Given the description of an element on the screen output the (x, y) to click on. 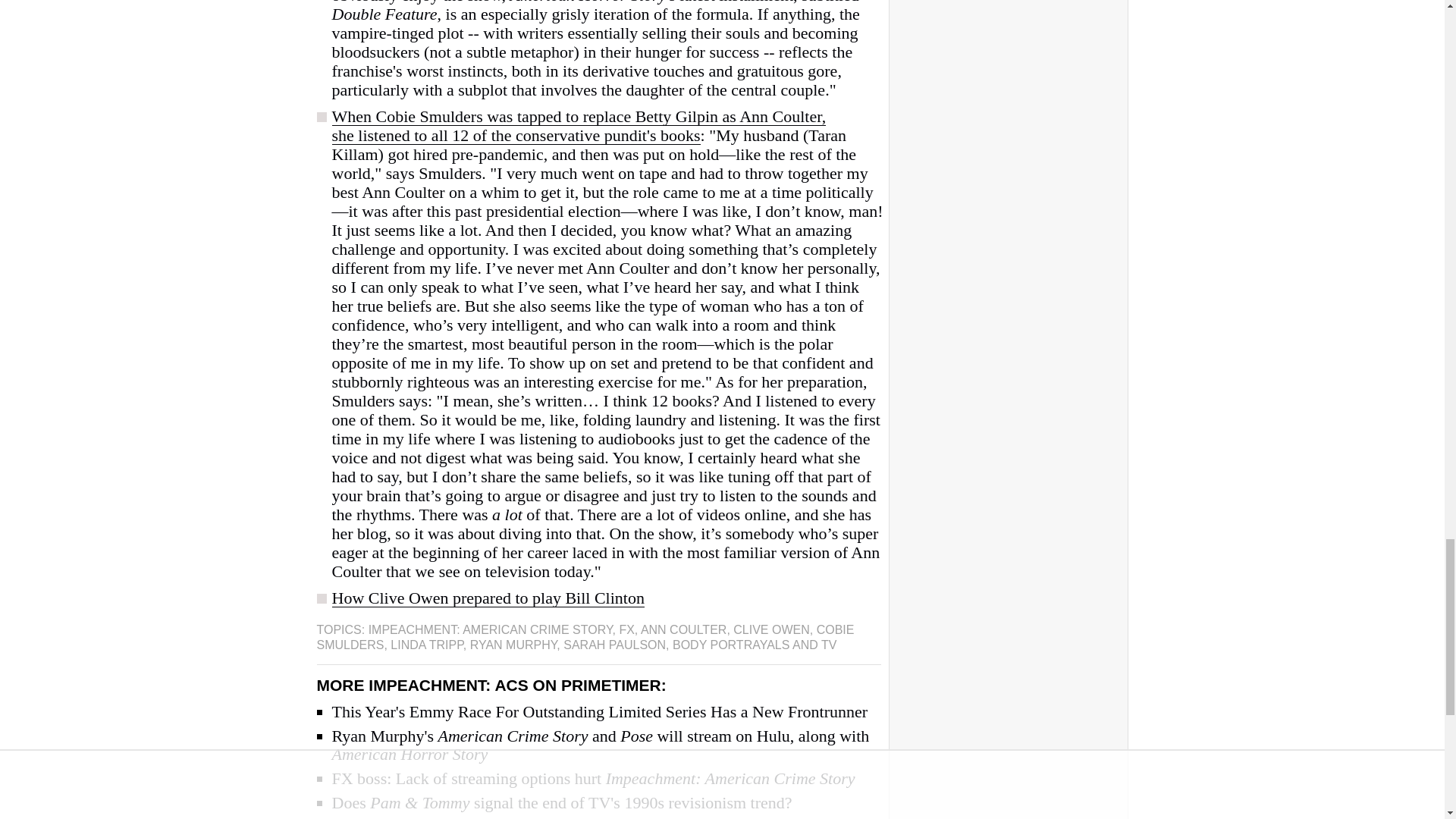
FX (625, 629)
How Clive Owen prepared to play Bill Clinton (488, 598)
IMPEACHMENT: AMERICAN CRIME STORY (490, 629)
